Given the description of an element on the screen output the (x, y) to click on. 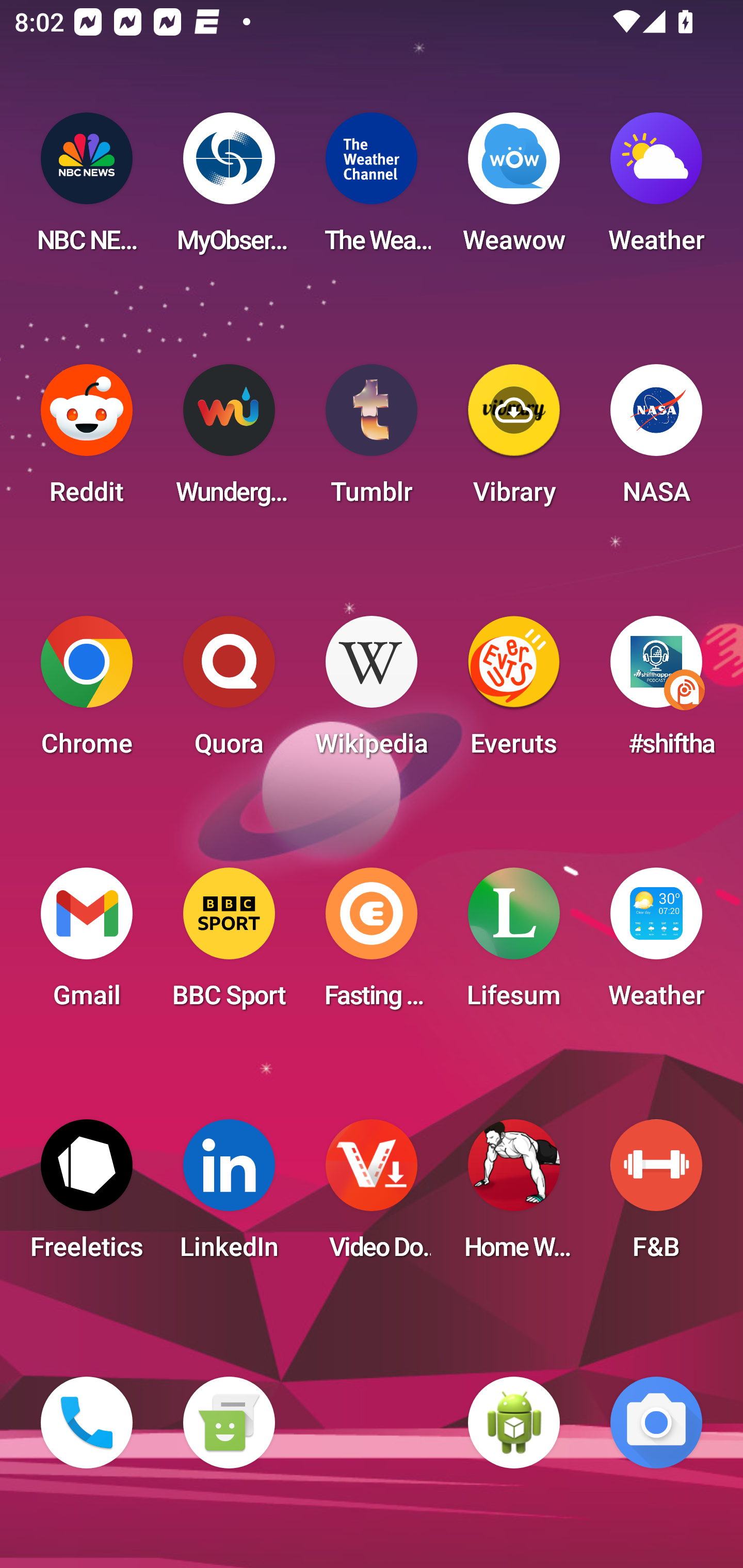
NBC NEWS (86, 188)
MyObservatory (228, 188)
The Weather Channel (371, 188)
Weawow (513, 188)
Weather (656, 188)
Reddit (86, 440)
Wunderground (228, 440)
Tumblr (371, 440)
Vibrary (513, 440)
NASA (656, 440)
Chrome (86, 692)
Quora (228, 692)
Wikipedia (371, 692)
Everuts (513, 692)
#shifthappens in the Digital Workplace Podcast (656, 692)
Gmail (86, 943)
BBC Sport (228, 943)
Fasting Coach (371, 943)
Lifesum (513, 943)
Weather (656, 943)
Freeletics (86, 1195)
LinkedIn (228, 1195)
Video Downloader & Ace Player (371, 1195)
Home Workout (513, 1195)
F&B (656, 1195)
Phone (86, 1422)
Messaging (228, 1422)
WebView Browser Tester (513, 1422)
Camera (656, 1422)
